Given the description of an element on the screen output the (x, y) to click on. 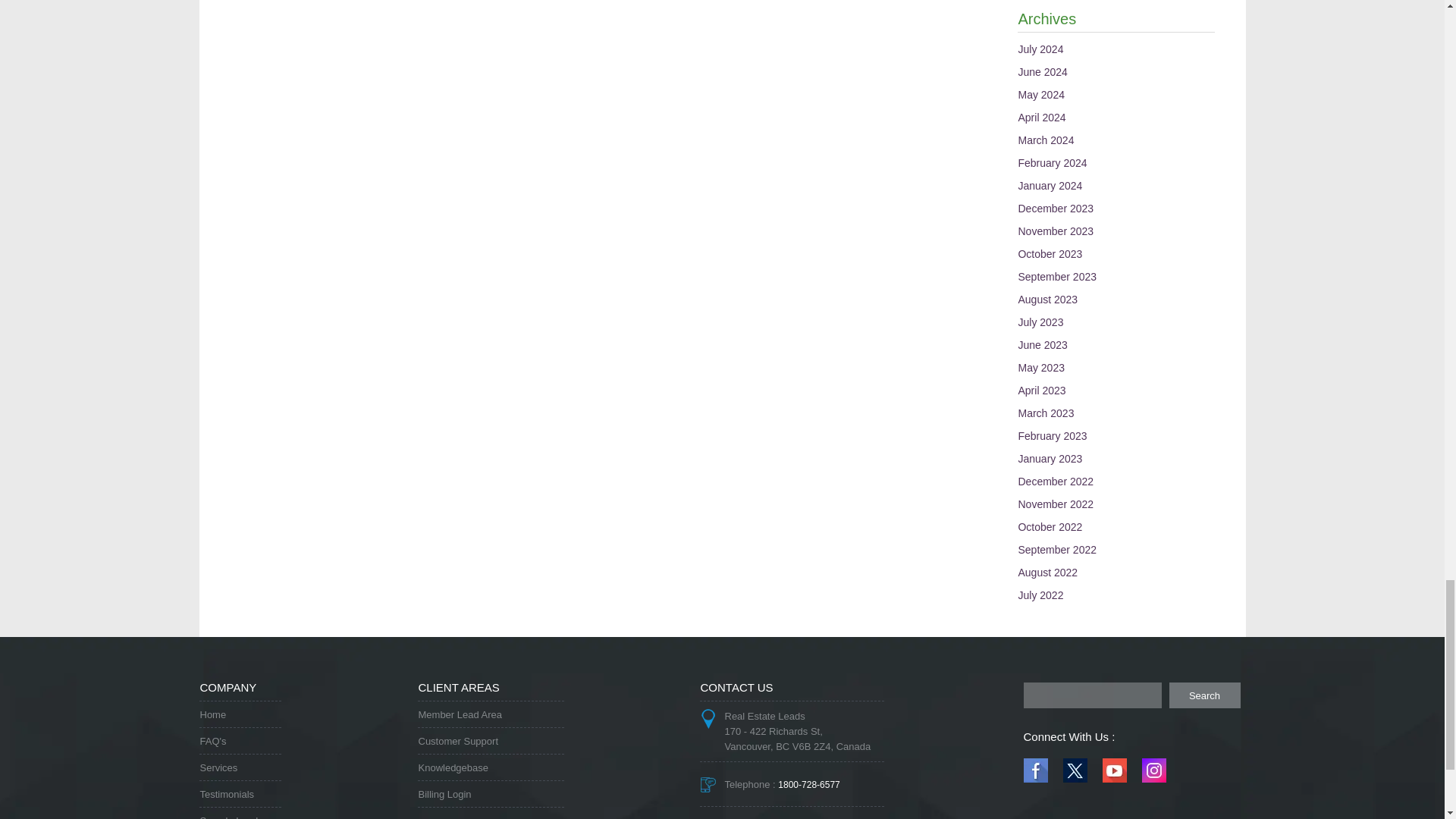
Search (1204, 695)
Search (1204, 695)
